Given the description of an element on the screen output the (x, y) to click on. 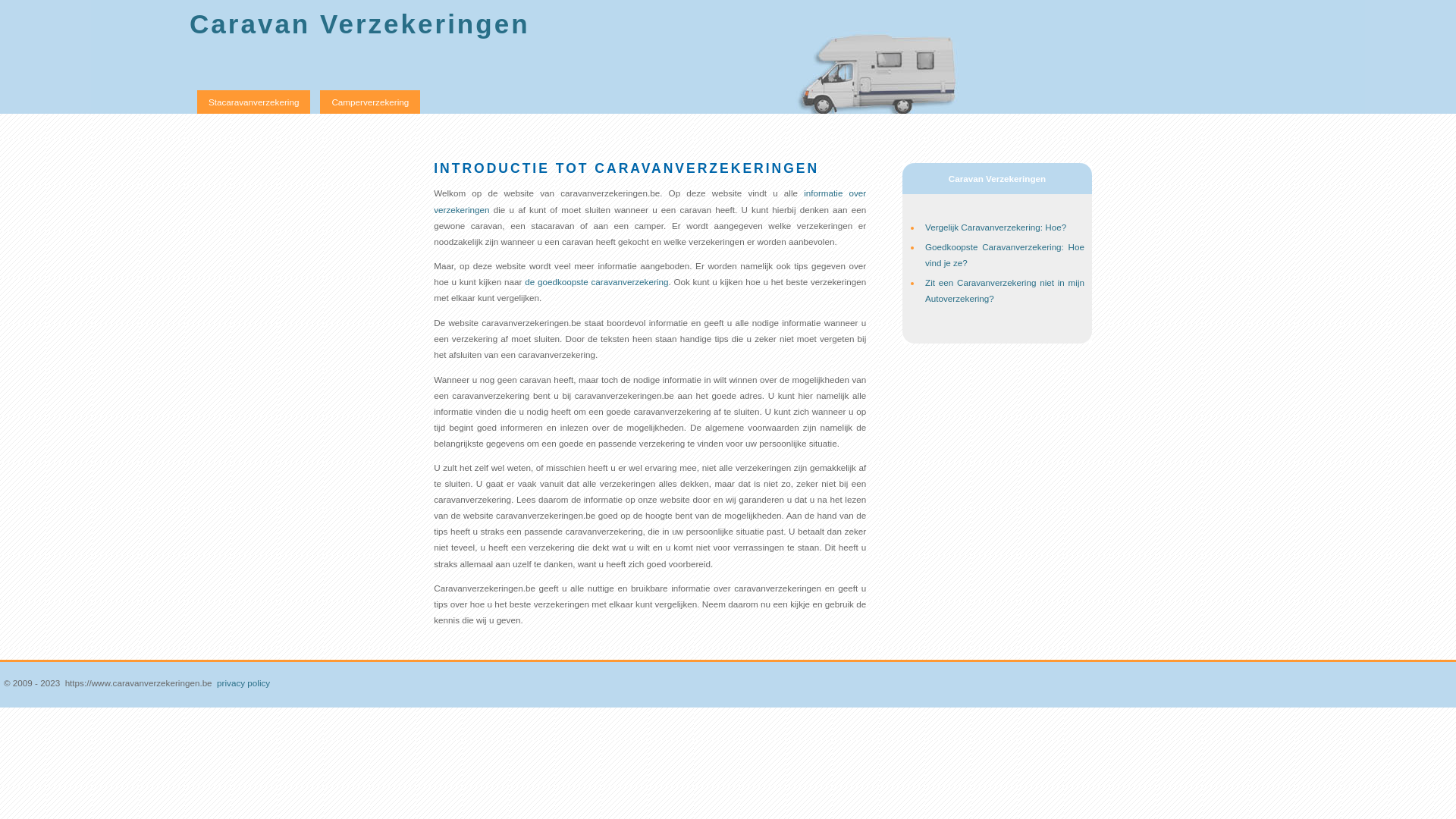
de goedkoopste caravanverzekering Element type: text (596, 281)
Zit een Caravanverzekering niet in mijn Autoverzekering? Element type: text (1004, 290)
privacy policy Element type: text (242, 682)
Caravan Verzekeringen Element type: text (359, 23)
Stacaravanverzekering Element type: text (253, 101)
Camperverzekering Element type: text (370, 101)
Vergelijk Caravanverzekering: Hoe? Element type: text (995, 227)
informatie over verzekeringen Element type: text (649, 200)
Goedkoopste Caravanverzekering: Hoe vind je ze? Element type: text (1004, 254)
